Given the description of an element on the screen output the (x, y) to click on. 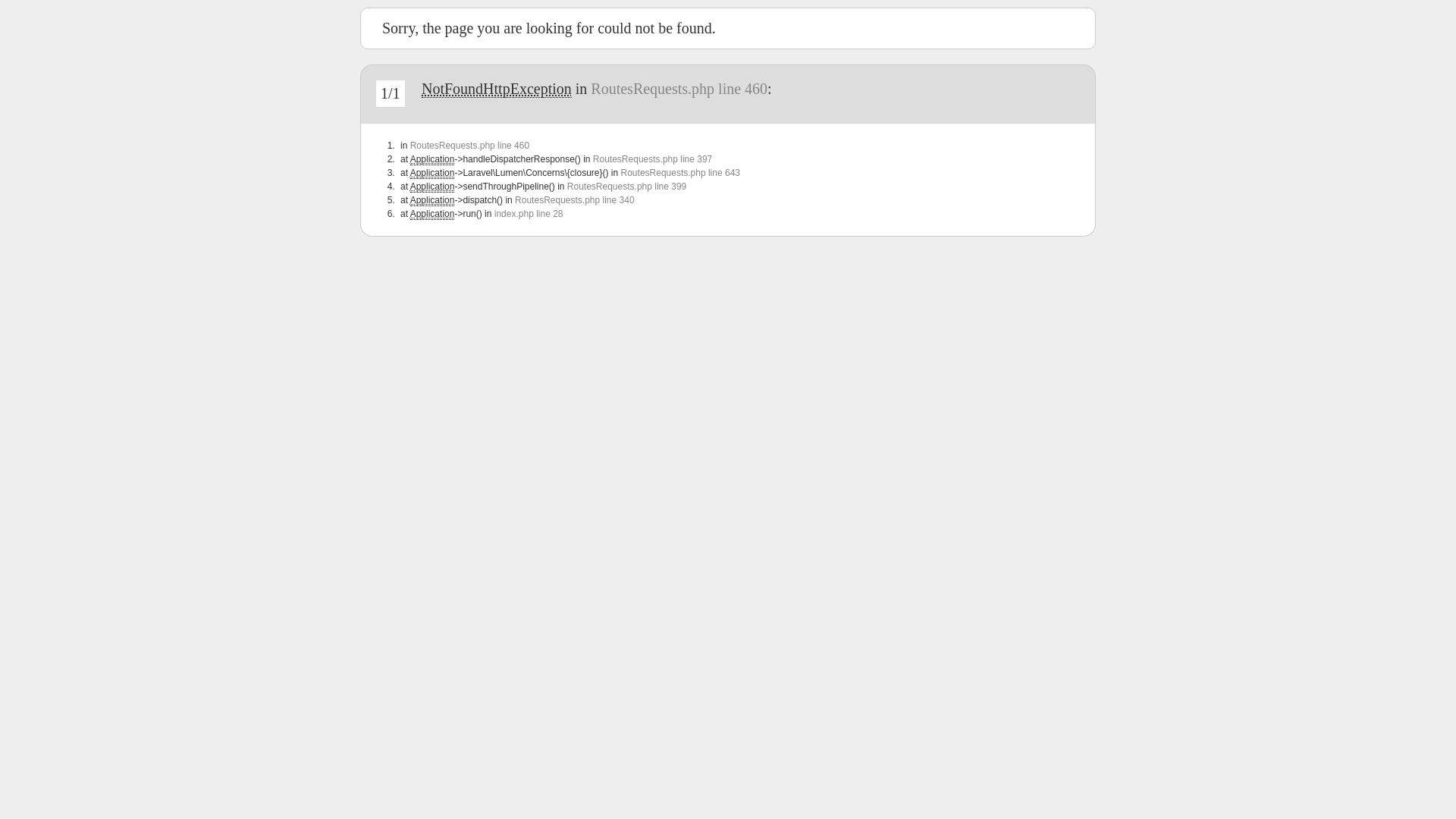
RoutesRequests.php line 399 Element type: text (626, 186)
RoutesRequests.php line 340 Element type: text (573, 199)
RoutesRequests.php line 460 Element type: text (678, 88)
RoutesRequests.php line 460 Element type: text (469, 145)
RoutesRequests.php line 643 Element type: text (680, 172)
index.php line 28 Element type: text (528, 213)
RoutesRequests.php line 397 Element type: text (652, 158)
